Given the description of an element on the screen output the (x, y) to click on. 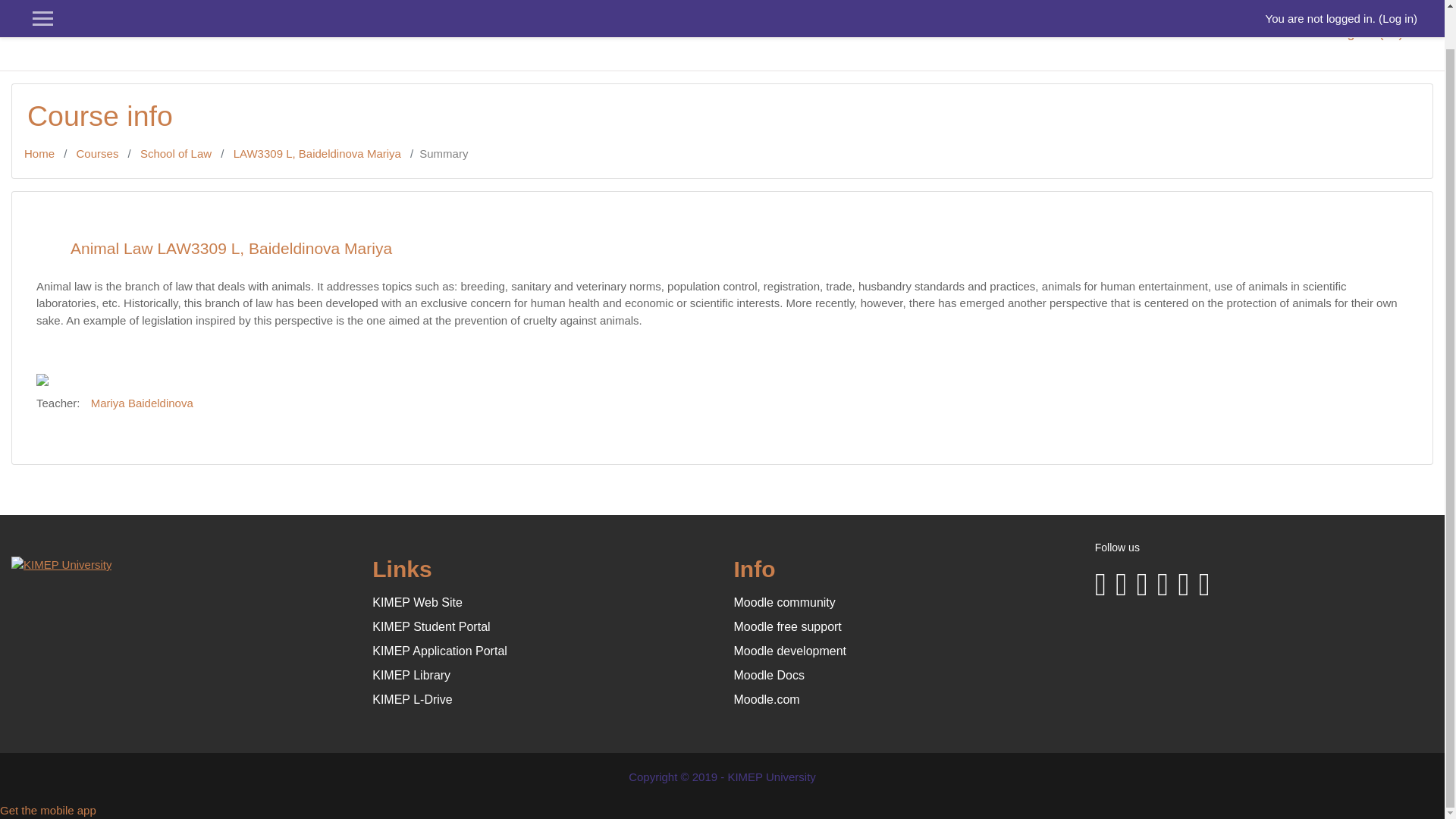
KIMEP Library (410, 675)
Moodle development (790, 650)
KIMEP Student Portal (430, 626)
Moodle free support (787, 626)
School of Law (175, 153)
KIMEP Web Site (417, 602)
KIMEP Application Portal (439, 650)
Home (39, 153)
Language (1373, 35)
Moodle.com (766, 698)
Animal Law LAW3309 L, Baideldinova Mariya (730, 248)
Animal Law LAW3309 L, Baideldinova Mariya (316, 153)
KIMEP L-Drive (412, 698)
Courses (98, 153)
LAW3309 L, Baideldinova Mariya (316, 153)
